Given the description of an element on the screen output the (x, y) to click on. 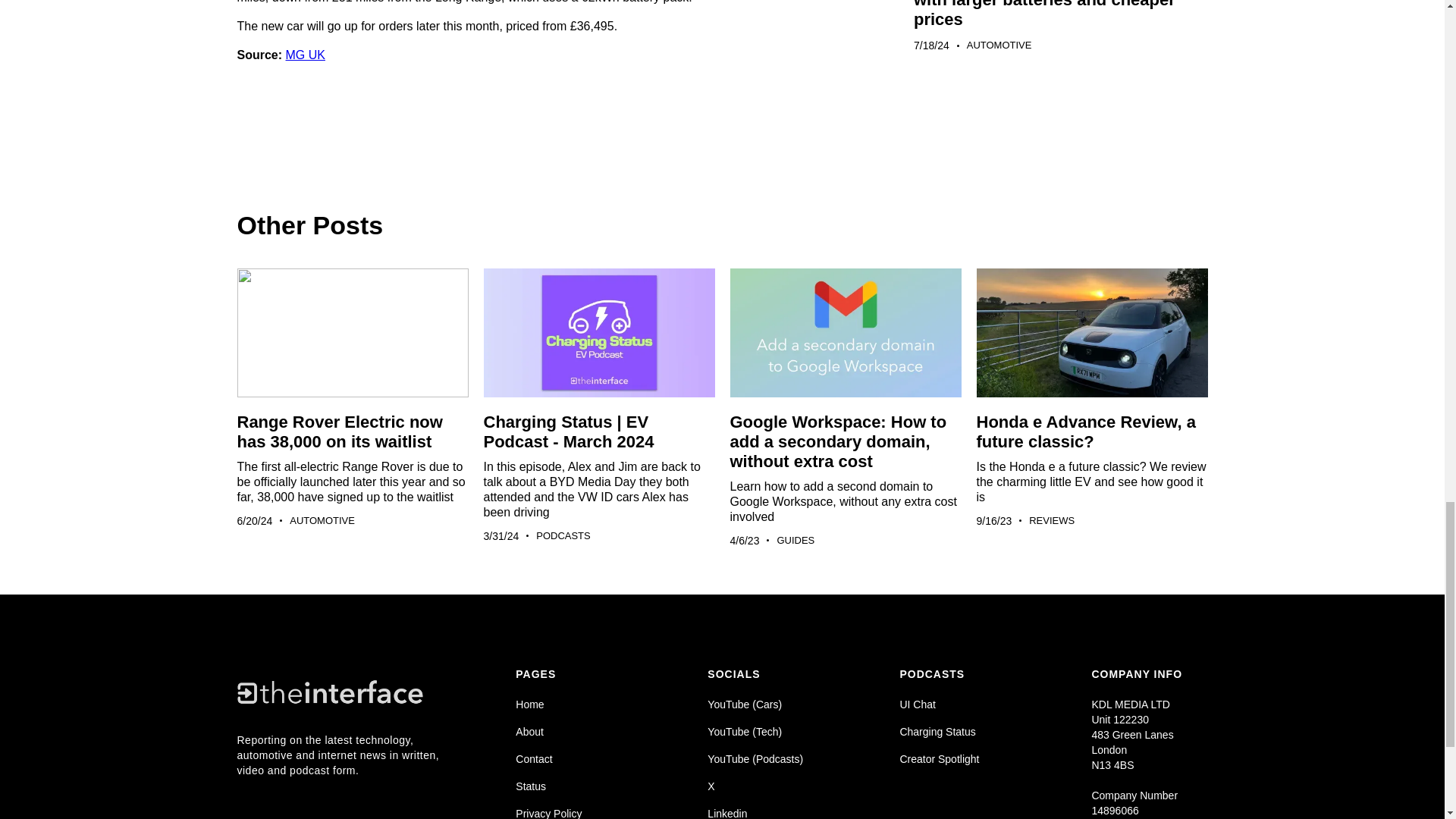
Status (573, 785)
MG UK (304, 54)
Honda e Advance Review, a future classic? (1085, 431)
PODCASTS (563, 535)
AUTOMOTIVE (322, 520)
REVIEWS (1051, 520)
Privacy Policy (573, 812)
Contact (573, 758)
GUIDES (794, 540)
Home (573, 703)
About (573, 731)
Range Rover Electric now has 38,000 on its waitlist (338, 431)
